Given the description of an element on the screen output the (x, y) to click on. 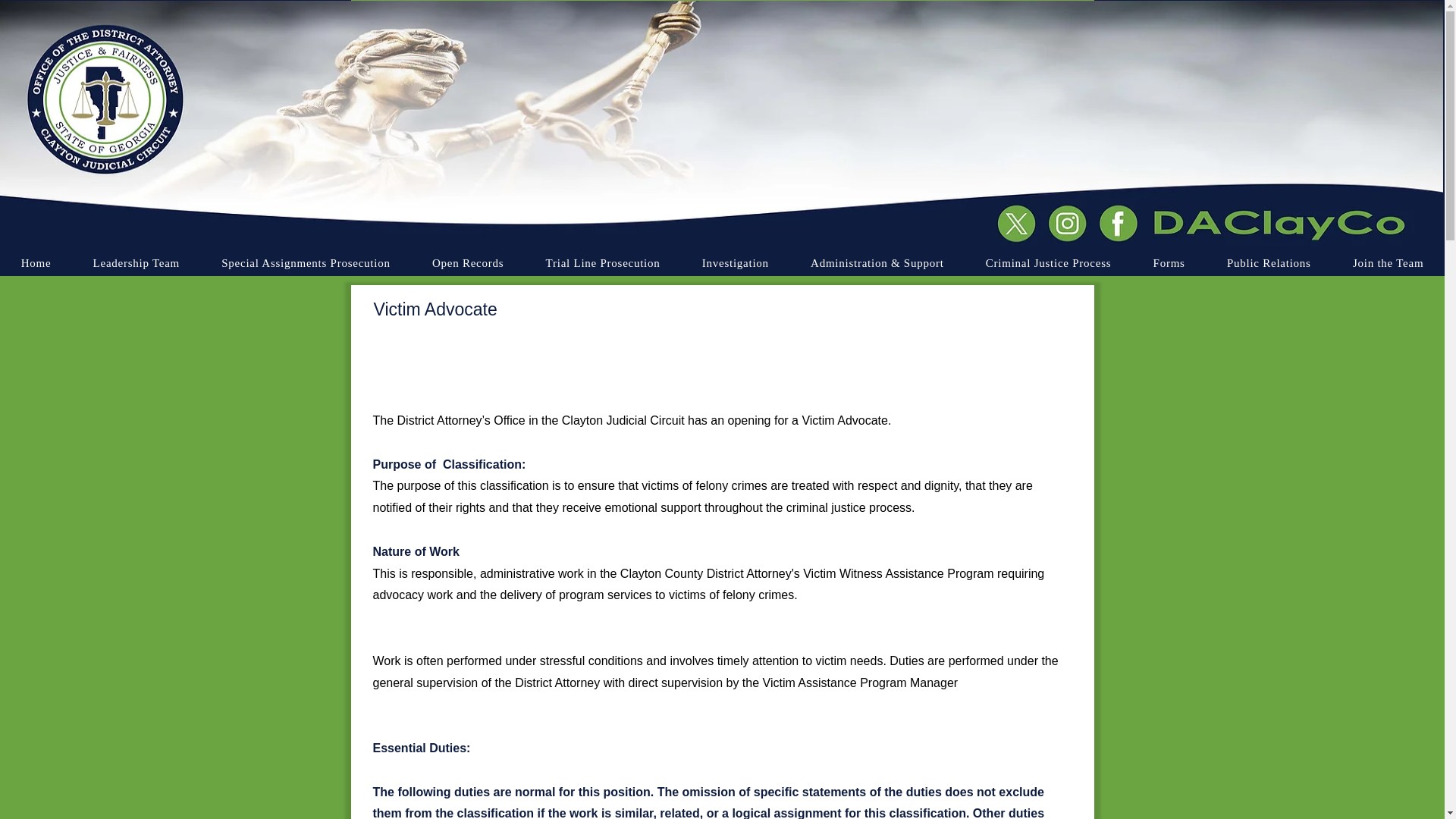
Open Records (467, 263)
Home (35, 263)
Criminal Justice Process (1047, 263)
Trial Line Prosecution (602, 263)
Investigation (735, 263)
Special Assignments Prosecution (306, 263)
Leadership Team (135, 263)
Public Relations (1268, 263)
Forms (1168, 263)
